Given the description of an element on the screen output the (x, y) to click on. 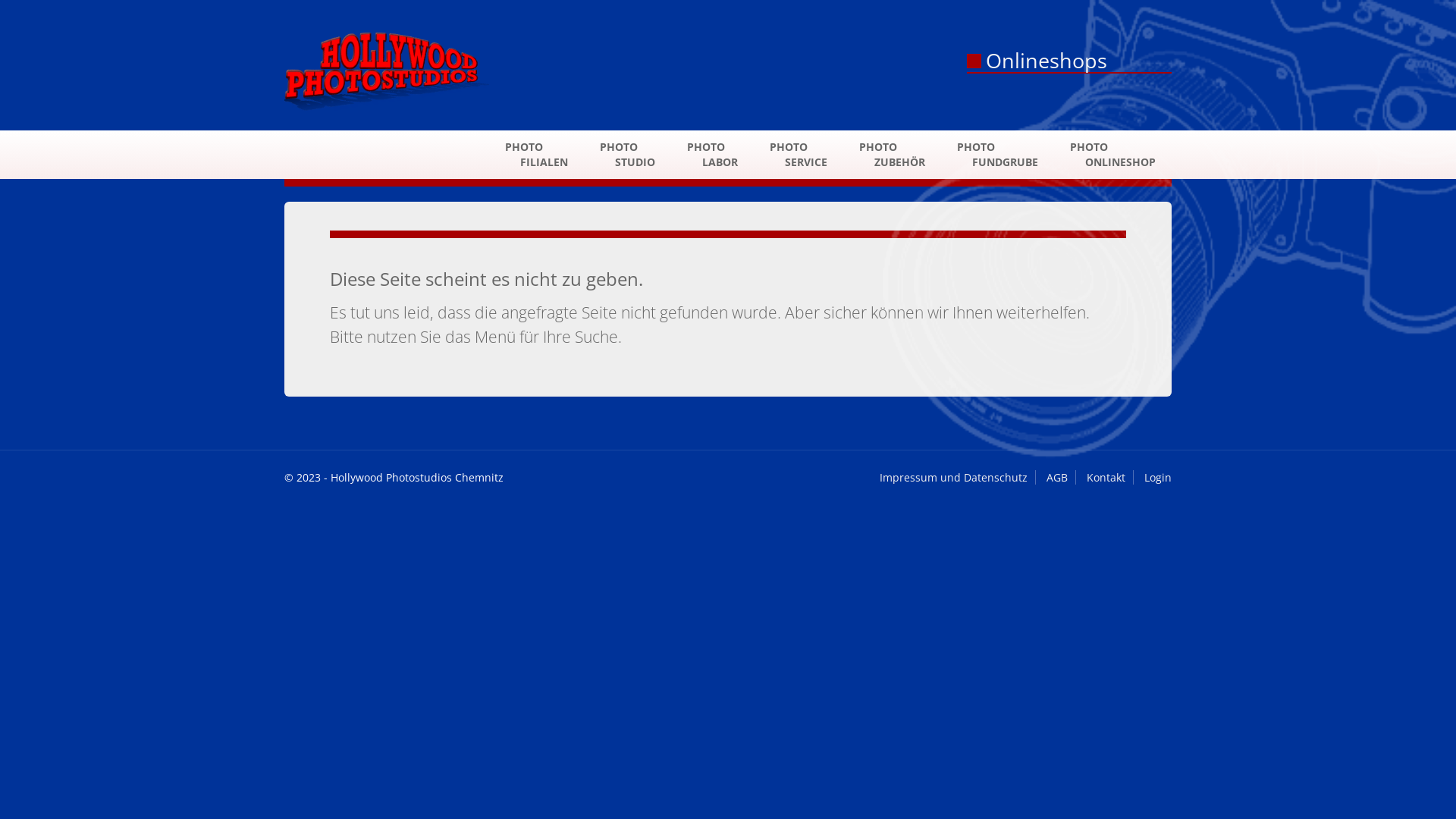
LABOR Element type: text (712, 155)
FUNDGRUBE Element type: text (997, 155)
SERVICE Element type: text (798, 155)
AGB Element type: text (1056, 477)
Kontakt Element type: text (1105, 477)
Onlineshop Element type: text (1041, 60)
ONLINESHOP Element type: text (1112, 155)
Login Element type: text (1157, 477)
Impressum und Datenschutz Element type: text (953, 477)
FILIALEN Element type: text (536, 155)
STUDIO Element type: text (627, 155)
